Given the description of an element on the screen output the (x, y) to click on. 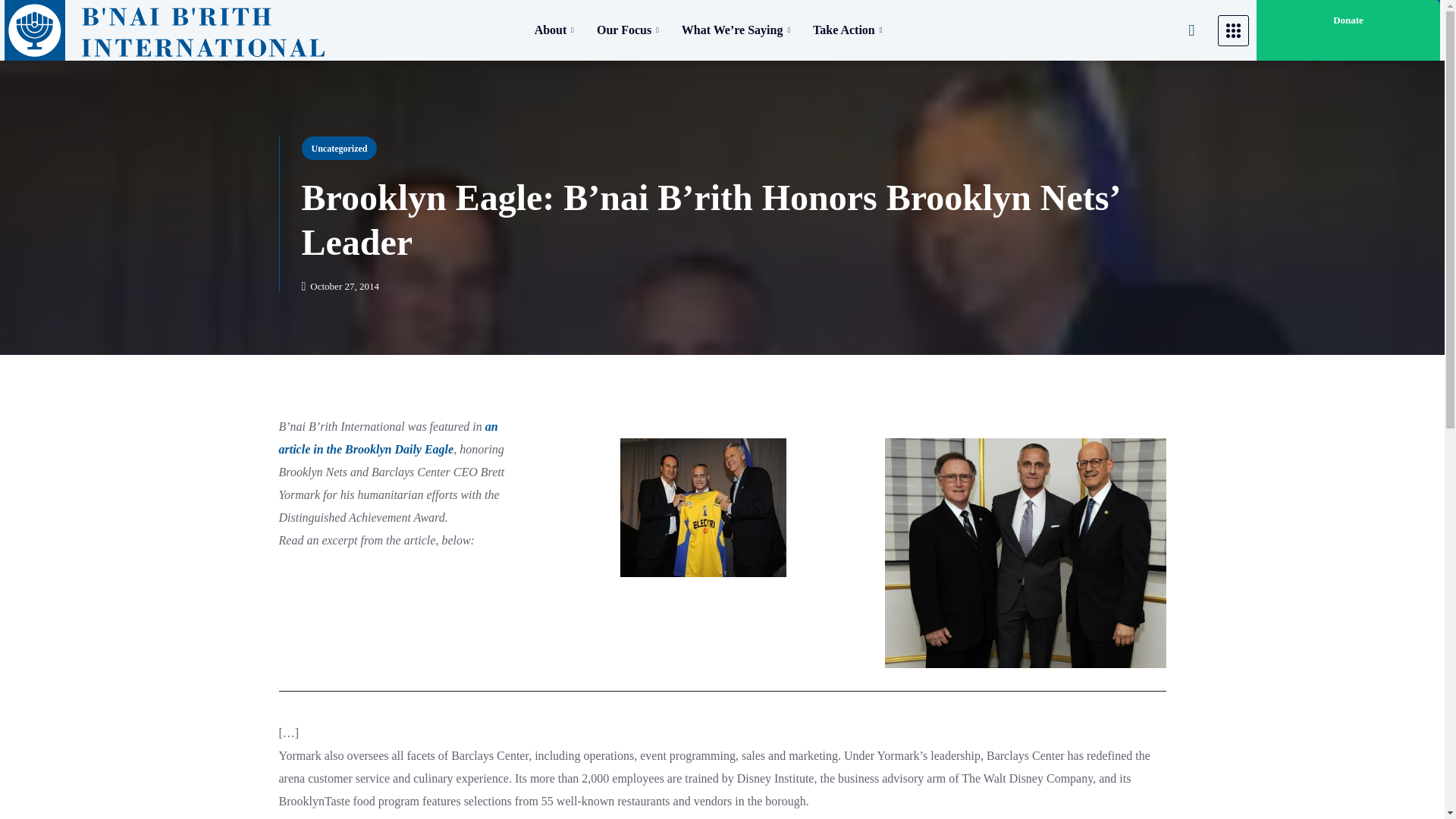
Our Focus (627, 30)
About (553, 30)
